Given the description of an element on the screen output the (x, y) to click on. 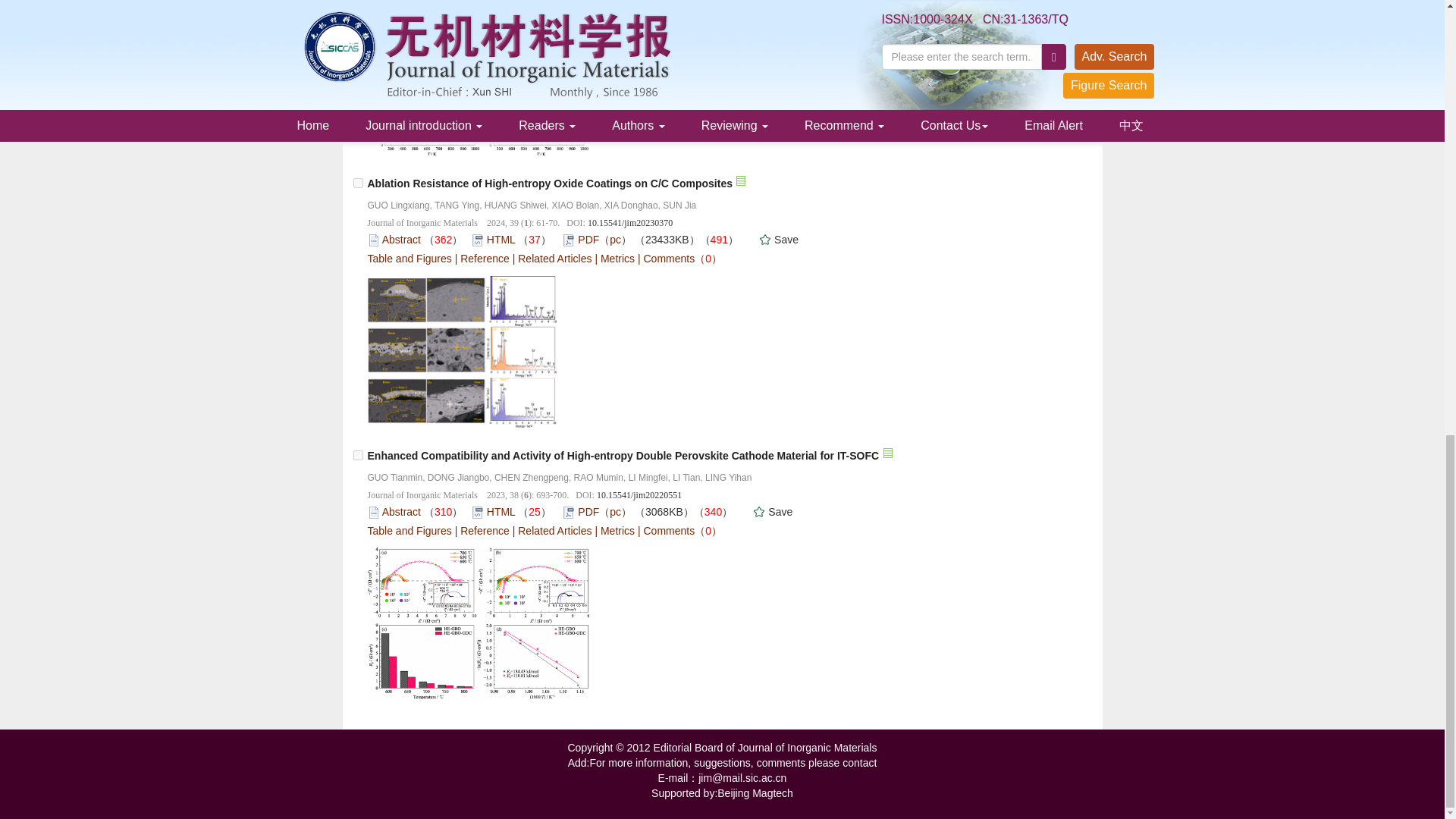
14941 (357, 183)
14778 (357, 455)
